Given the description of an element on the screen output the (x, y) to click on. 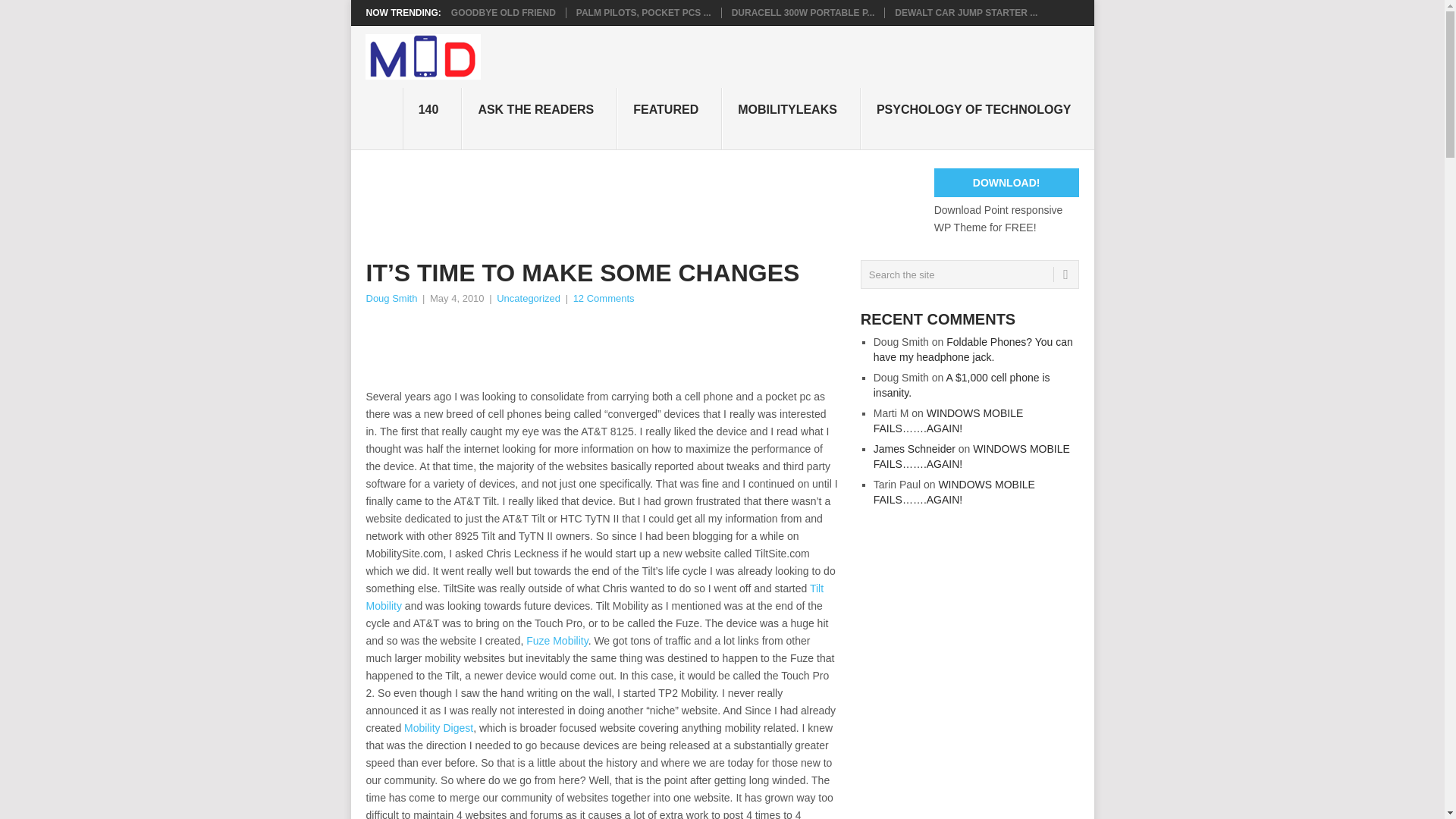
DEWALT CAR JUMP STARTER ... (965, 12)
DOWNLOAD! (1006, 182)
Palm Pilots, Pocket PCs and Boogie Boards (643, 12)
DeWalt Car Jump Starter Review (965, 12)
PALM PILOTS, POCKET PCS ... (643, 12)
Doug Smith (390, 297)
12 Comments (603, 297)
Posts by Doug Smith (390, 297)
PSYCHOLOGY OF TECHNOLOGY (977, 118)
FEATURED (669, 118)
